Given the description of an element on the screen output the (x, y) to click on. 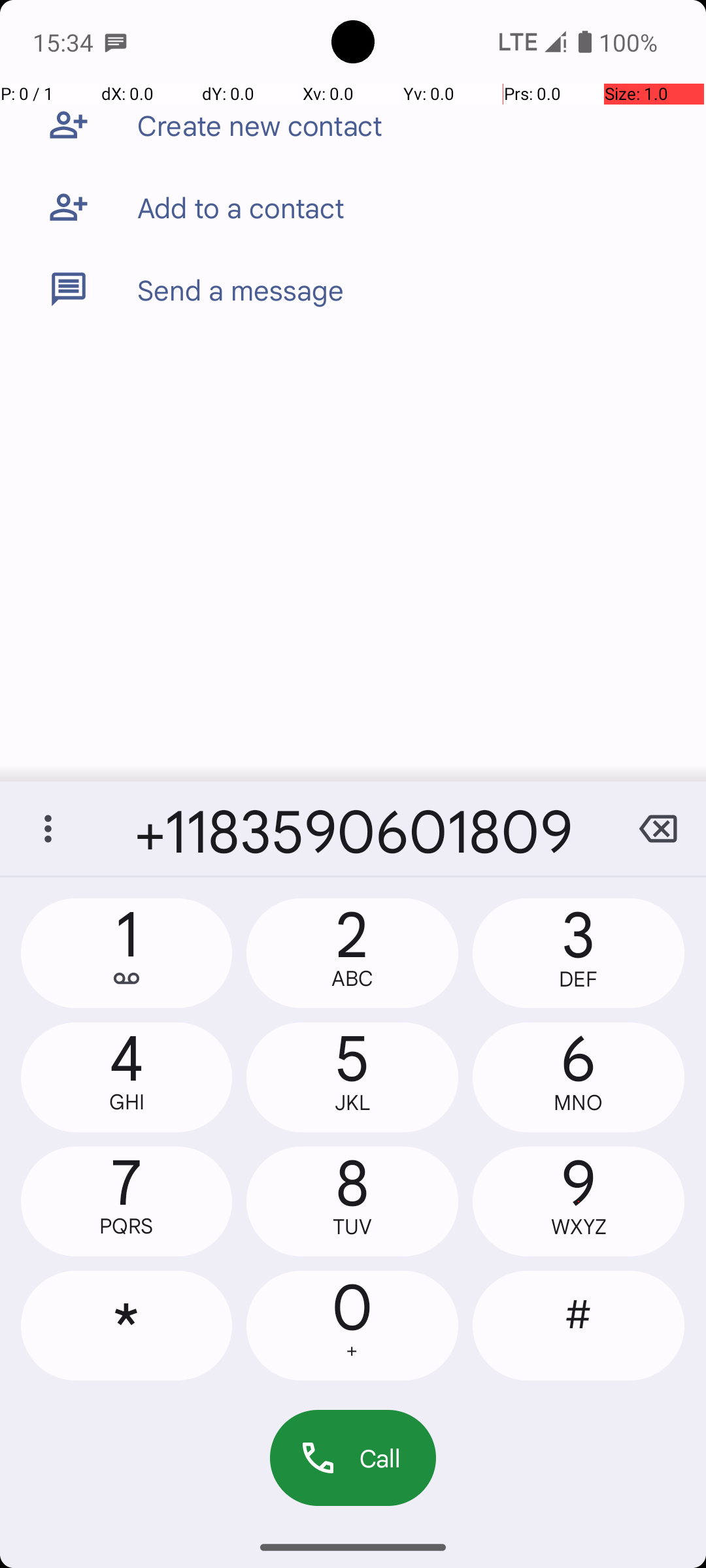
+1183590601809 Element type: android.widget.EditText (352, 828)
